Given the description of an element on the screen output the (x, y) to click on. 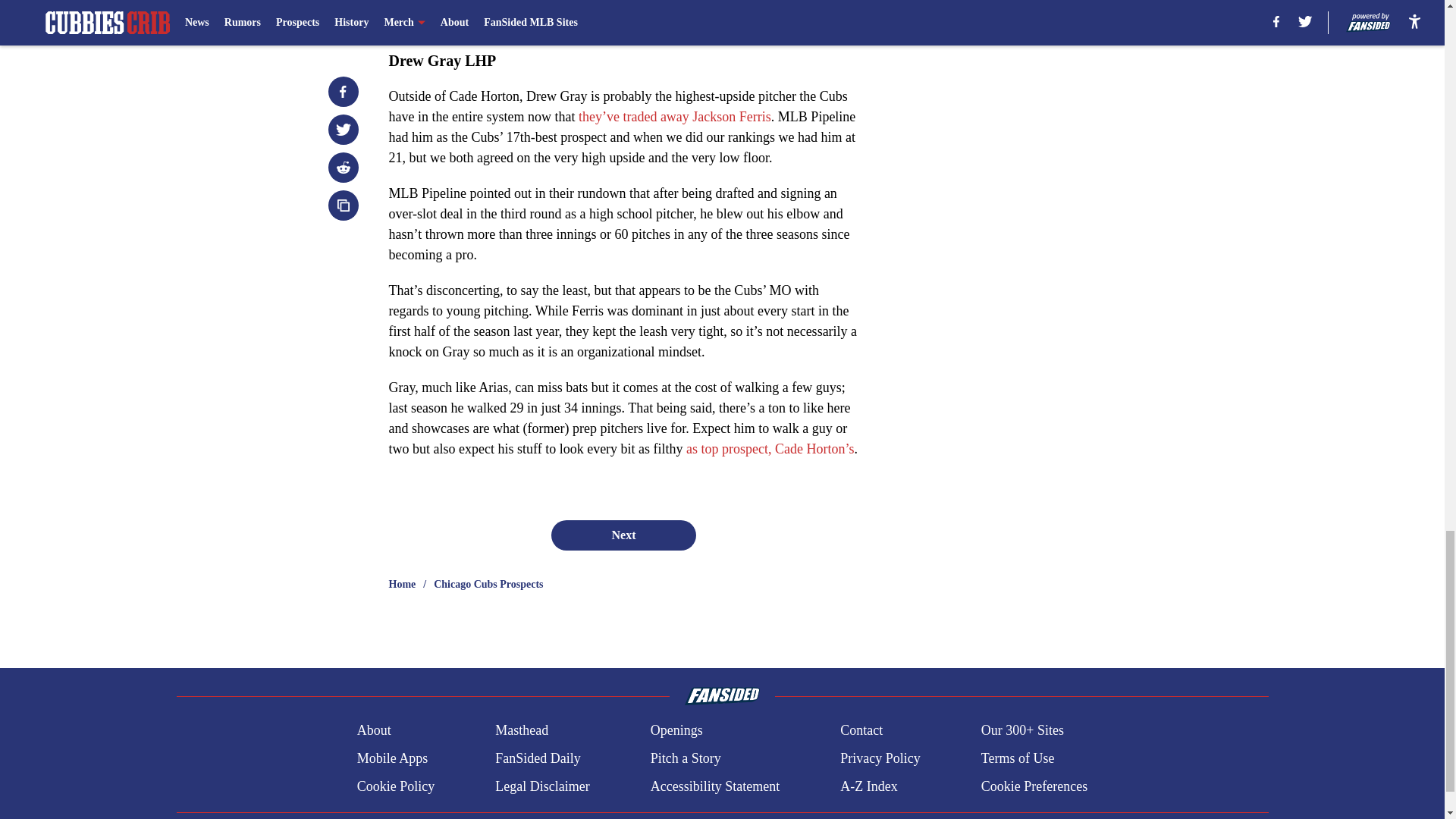
Chicago Cubs Prospects (488, 584)
FanSided Daily (537, 758)
Mobile Apps (392, 758)
Masthead (521, 730)
Cookie Policy (395, 786)
Home (401, 584)
Privacy Policy (880, 758)
About (373, 730)
Openings (676, 730)
Pitch a Story (685, 758)
Contact (861, 730)
Next (622, 535)
Terms of Use (1017, 758)
